Given the description of an element on the screen output the (x, y) to click on. 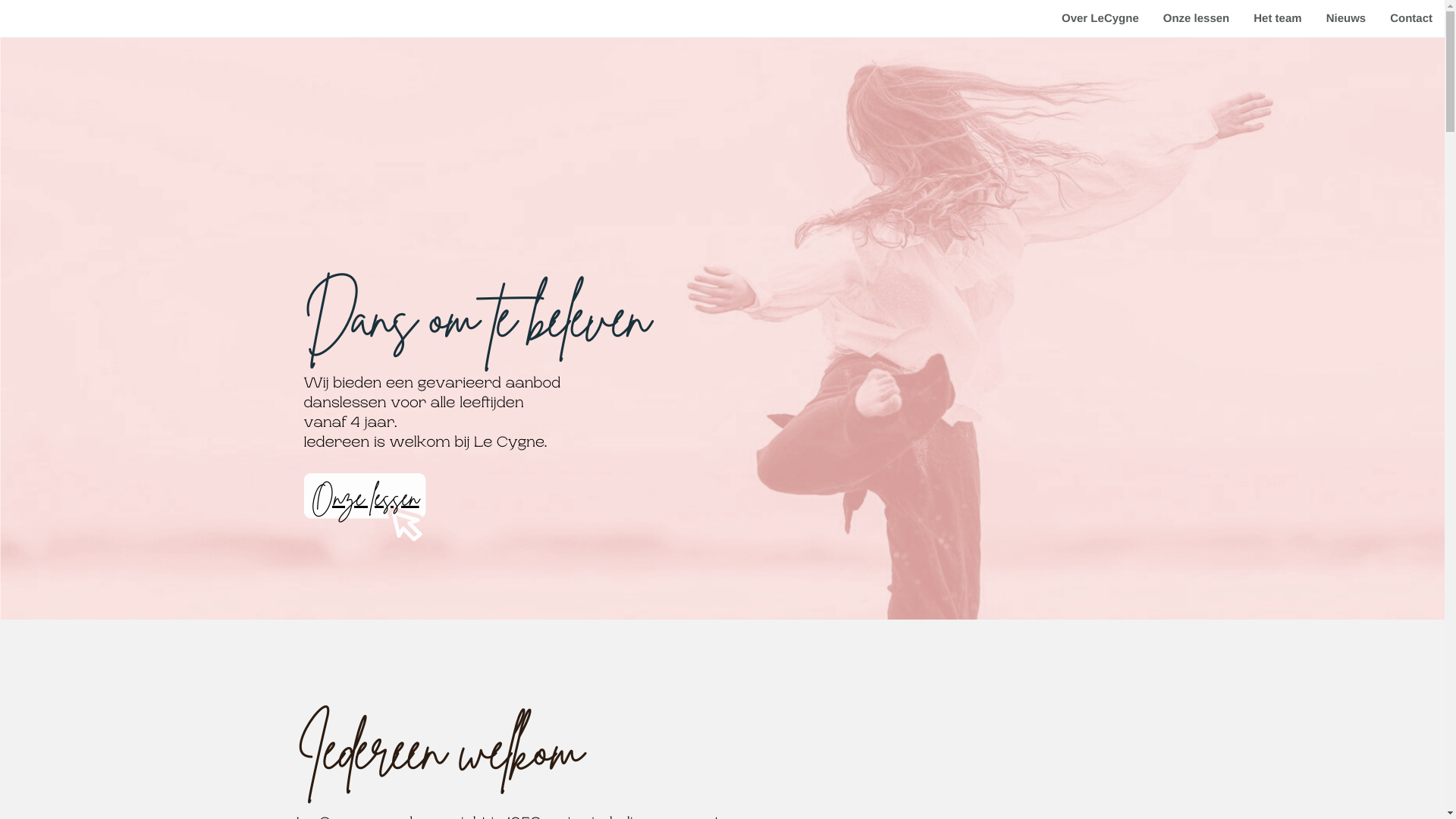
Het team Element type: text (1277, 18)
Onze lessen Element type: text (365, 497)
Contact Element type: text (1410, 18)
Over LeCygne Element type: text (1100, 18)
Onze lessen Element type: text (1196, 18)
Nieuws Element type: text (1346, 18)
